Given the description of an element on the screen output the (x, y) to click on. 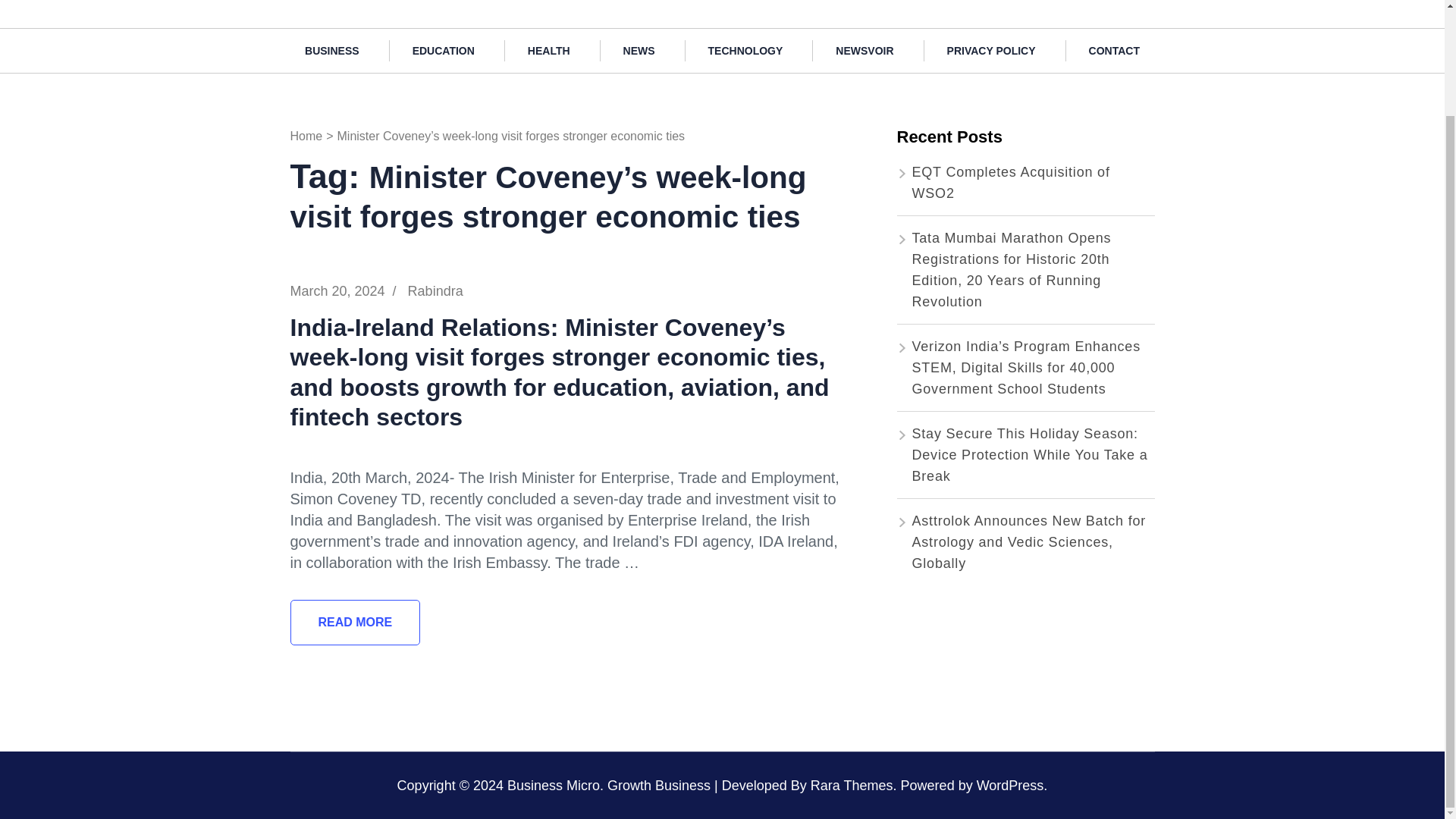
Home (305, 135)
NEWSVOIR (863, 50)
CONTACT (1113, 50)
HEALTH (548, 50)
March 20, 2024 (336, 290)
READ MORE (354, 622)
WordPress (1009, 785)
BUSINESS (331, 50)
